Given the description of an element on the screen output the (x, y) to click on. 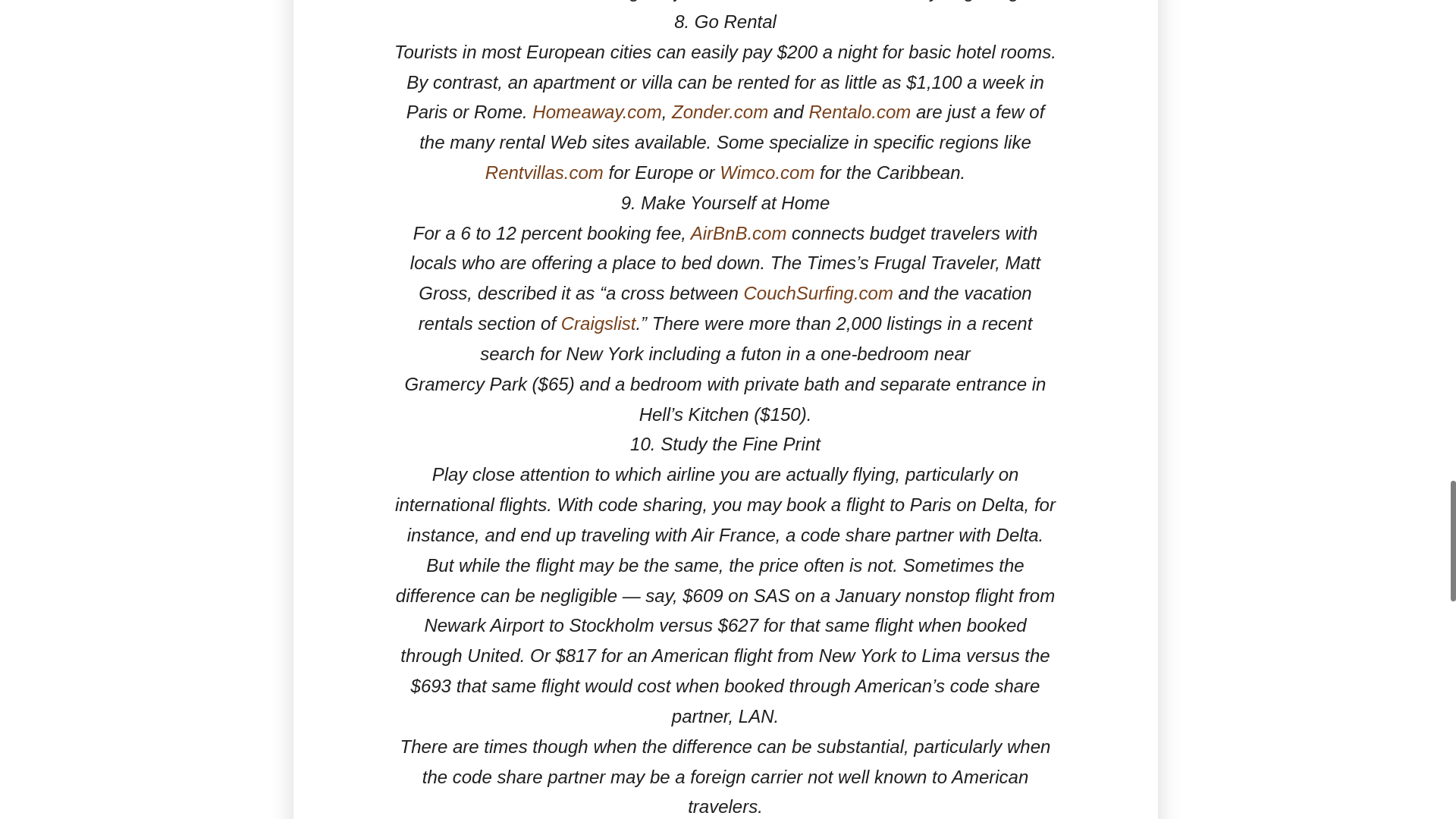
More articles about Craigslist. (598, 322)
